Given the description of an element on the screen output the (x, y) to click on. 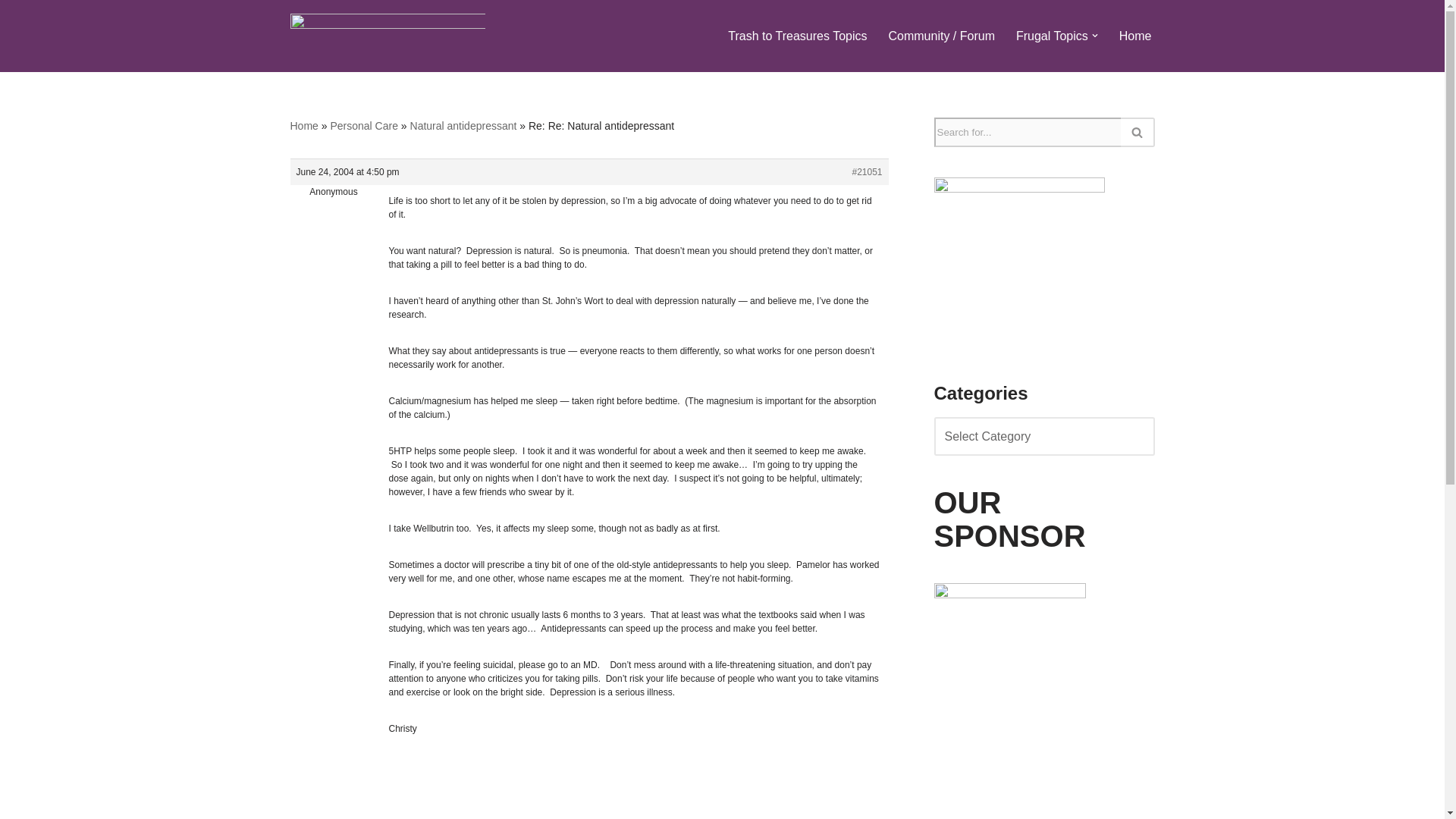
Skip to content (11, 31)
Home (1135, 35)
Frugal Topics (1051, 35)
Trash to Treasures Topics (797, 35)
